Given the description of an element on the screen output the (x, y) to click on. 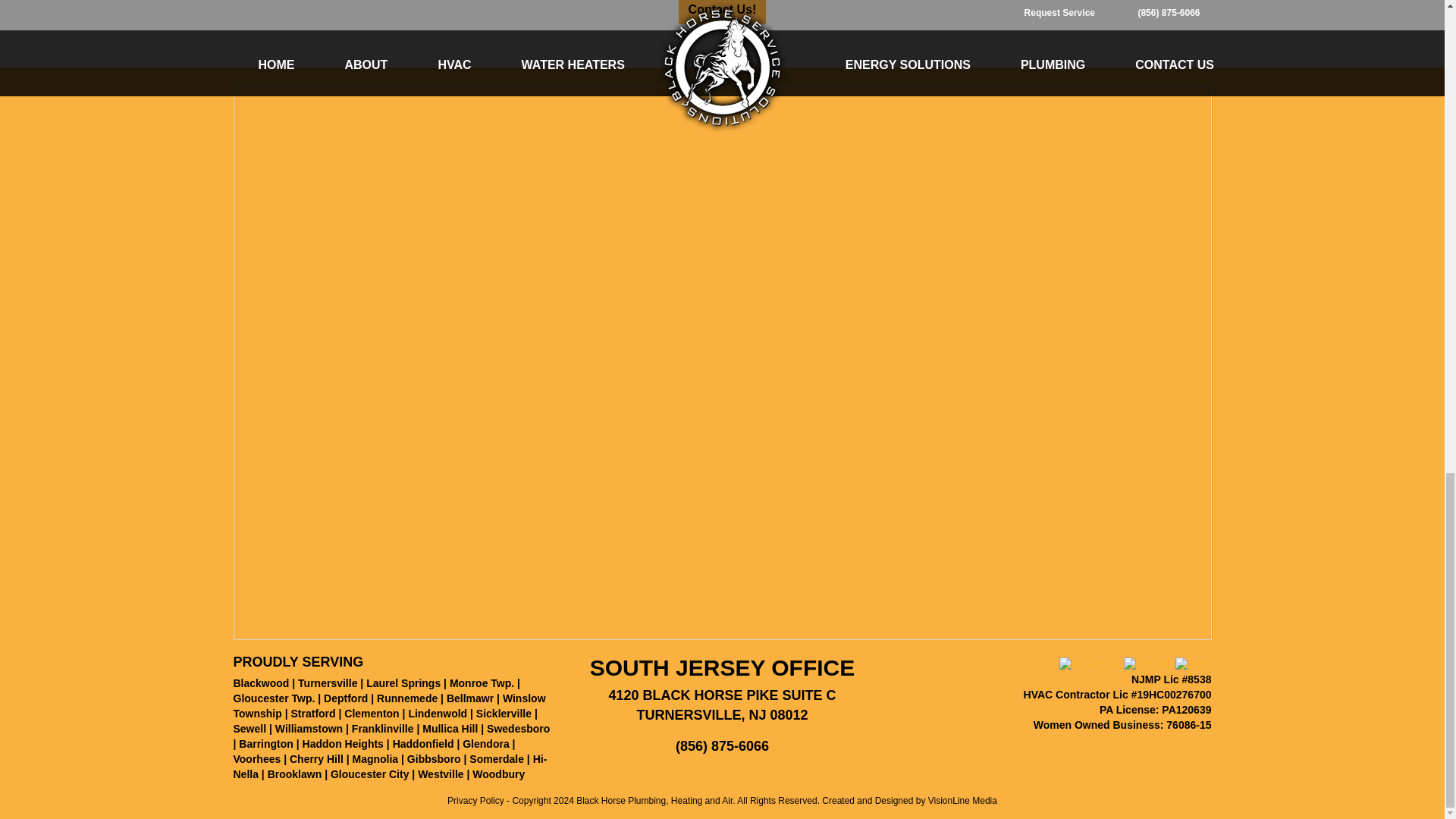
yelp (1192, 662)
Turnersville (327, 683)
yelp (1191, 663)
facebook (1090, 662)
Contact Us! (722, 12)
Deptford (345, 698)
facebook (1090, 663)
Monroe Twp. (481, 683)
Winslow Township (389, 705)
Gloucester Twp. (273, 698)
